Given the description of an element on the screen output the (x, y) to click on. 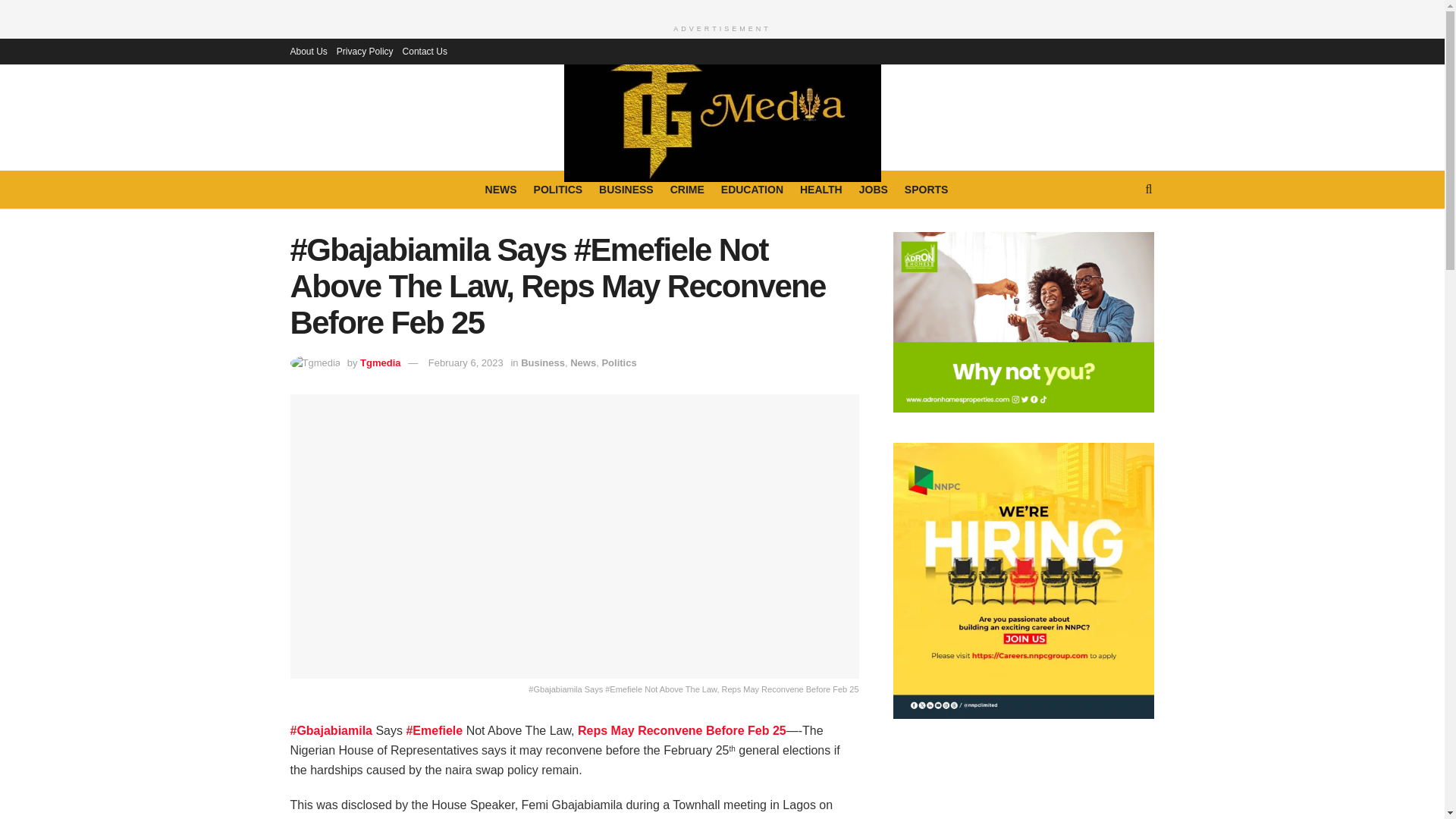
Privacy Policy (364, 51)
Contact Us (424, 51)
HEALTH (821, 189)
SPORTS (926, 189)
About Us (307, 51)
POLITICS (558, 189)
CRIME (686, 189)
NEWS (500, 189)
BUSINESS (625, 189)
EDUCATION (751, 189)
